Given the description of an element on the screen output the (x, y) to click on. 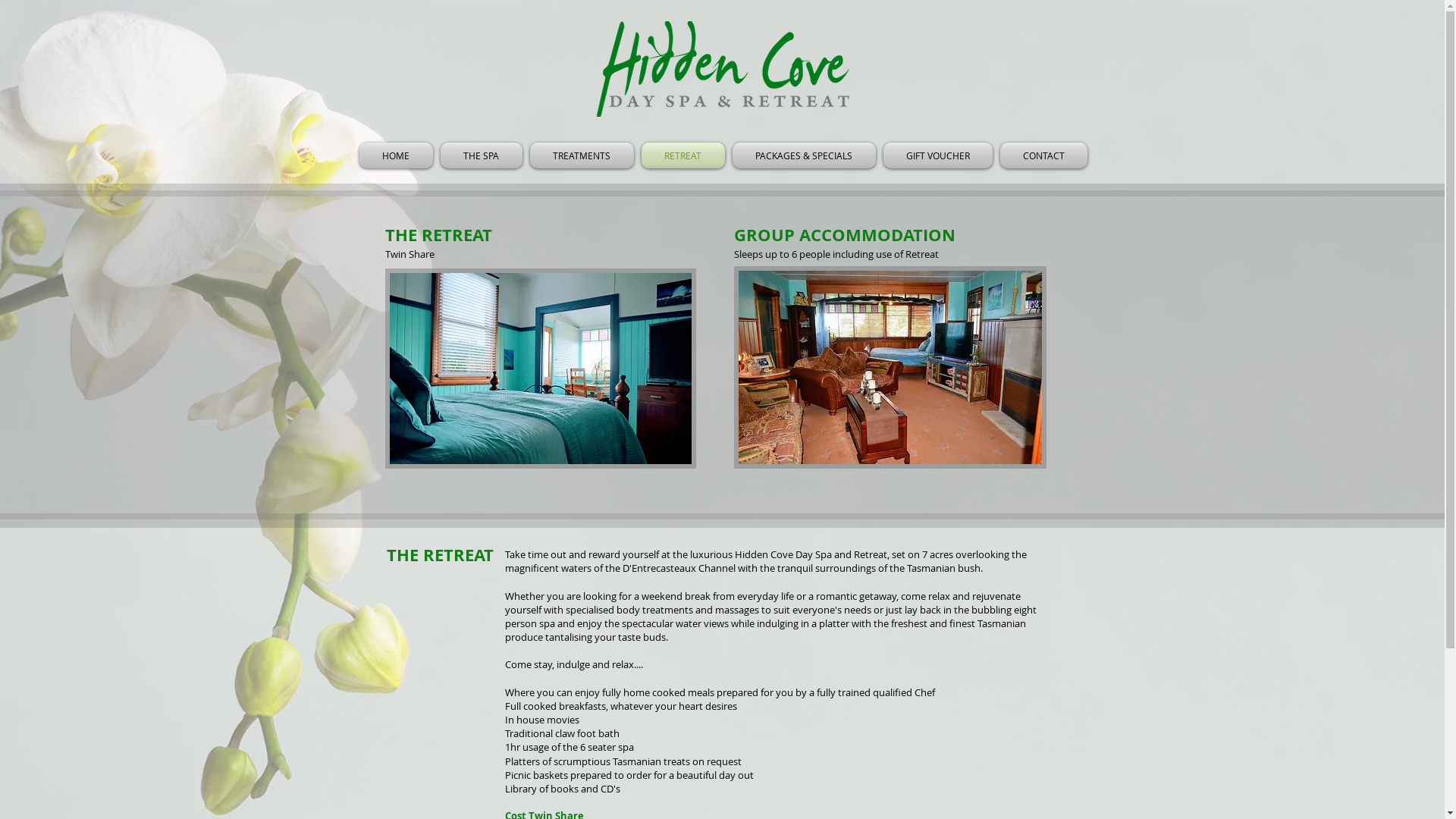
RETREAT Element type: text (682, 155)
GIFT VOUCHER Element type: text (937, 155)
THE SPA Element type: text (481, 155)
PACKAGES & SPECIALS Element type: text (803, 155)
TREATMENTS Element type: text (581, 155)
HOME Element type: text (397, 155)
CONTACT Element type: text (1041, 155)
